Given the description of an element on the screen output the (x, y) to click on. 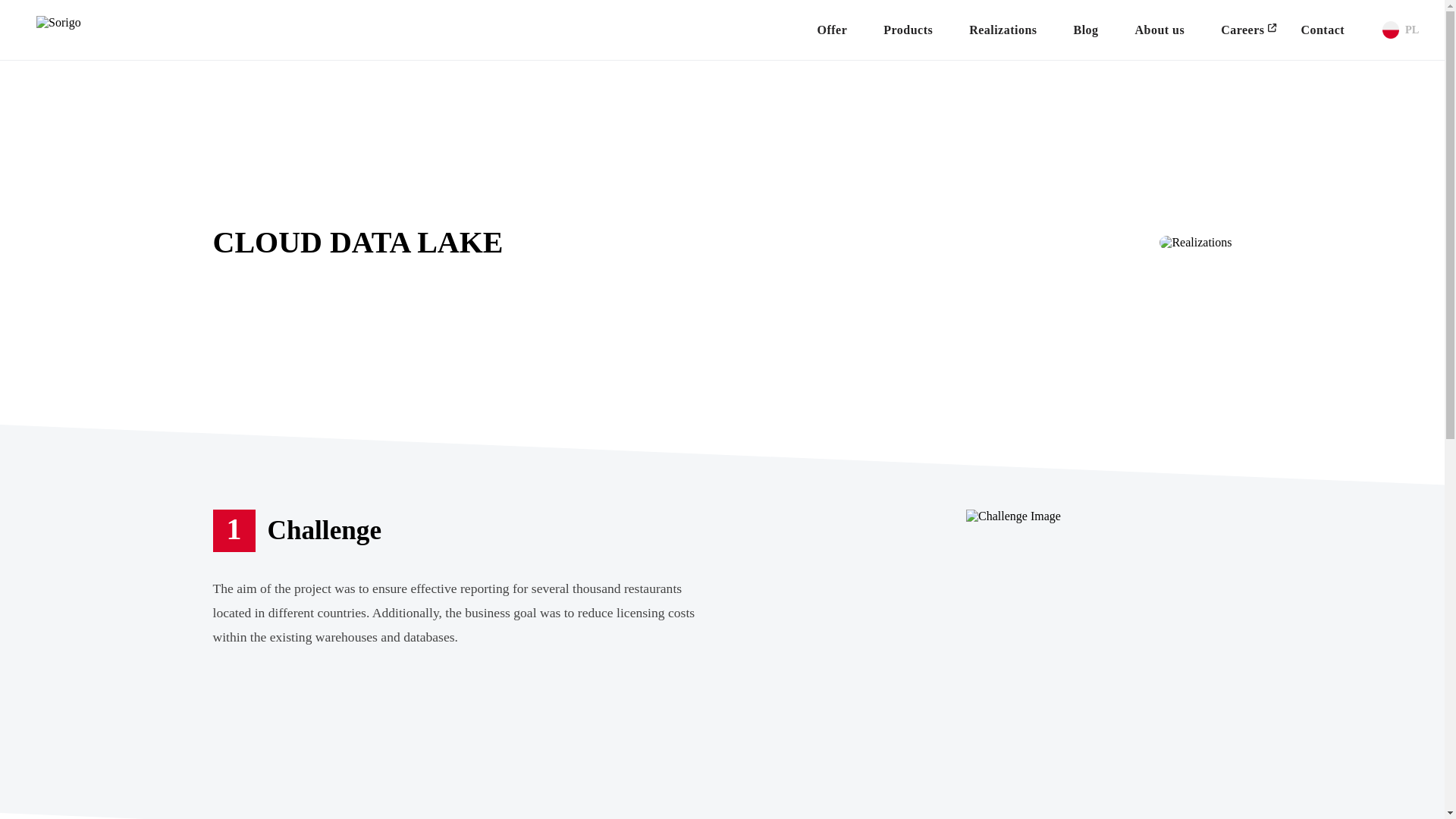
PL (1400, 29)
Contact (1322, 29)
Blog (1085, 29)
About us (1159, 29)
Careers (1242, 29)
Offer (832, 29)
Realizations (1002, 29)
